Given the description of an element on the screen output the (x, y) to click on. 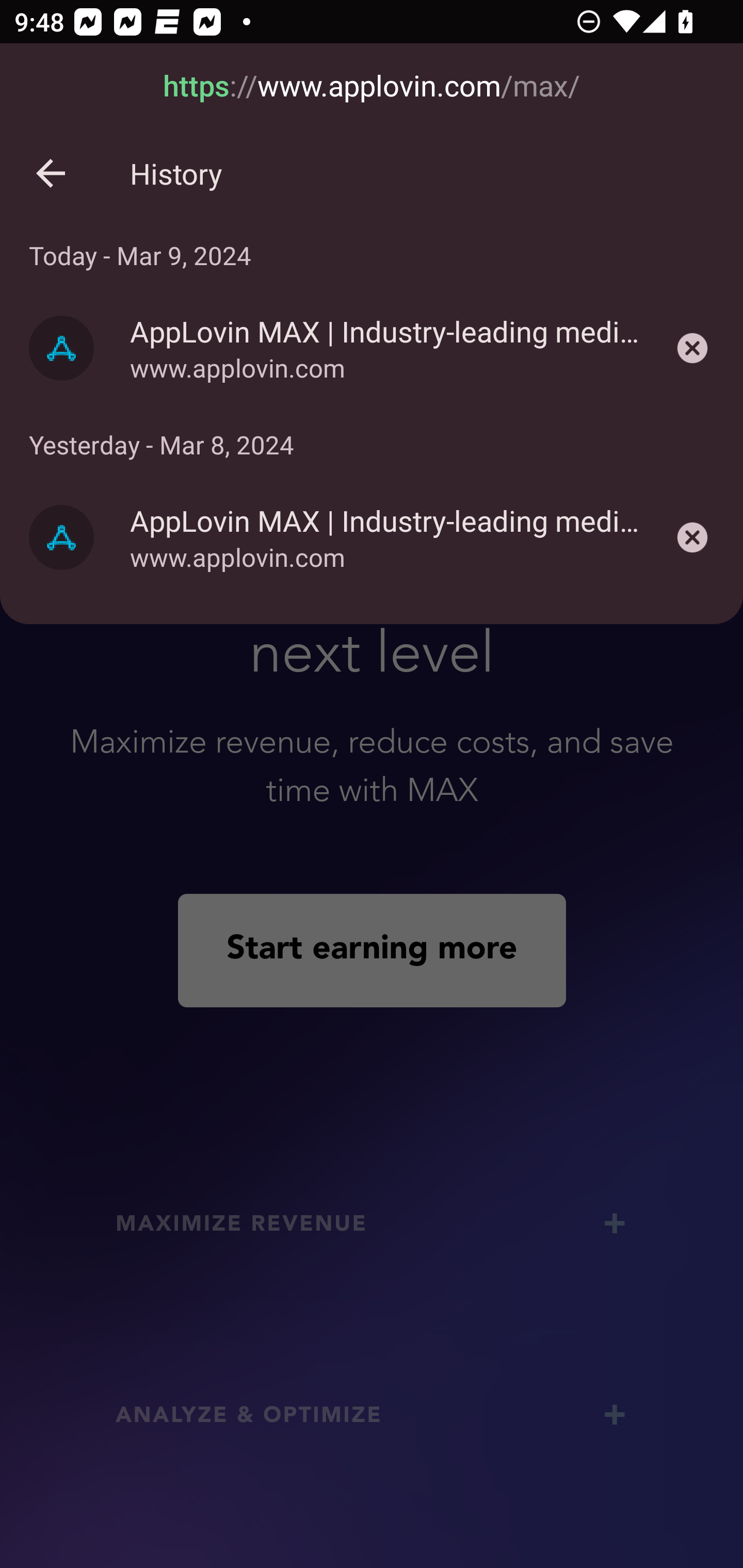
https://www.applovin.com/max/ (371, 86)
Back (50, 173)
